Given the description of an element on the screen output the (x, y) to click on. 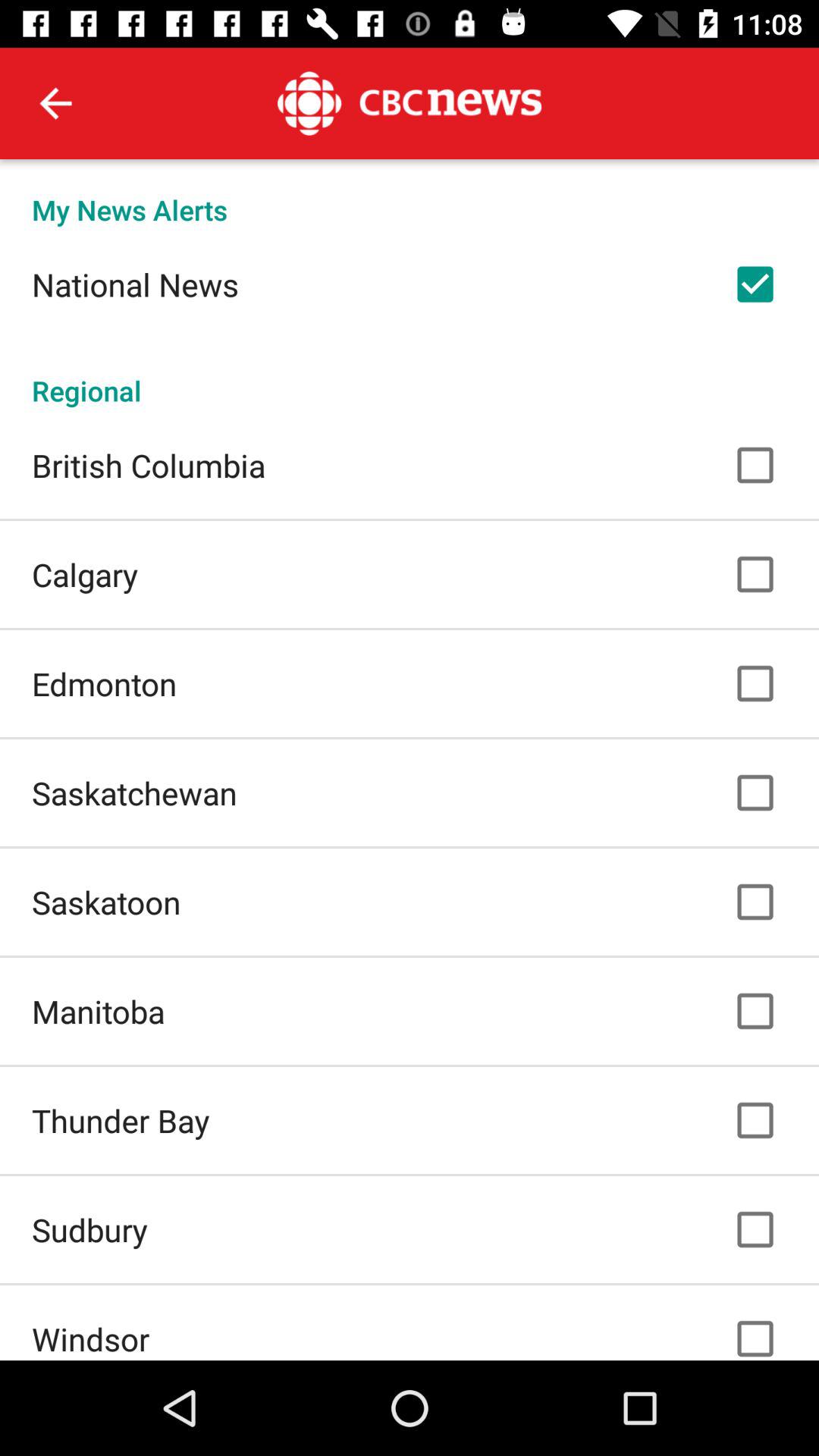
flip until sudbury icon (89, 1229)
